Given the description of an element on the screen output the (x, y) to click on. 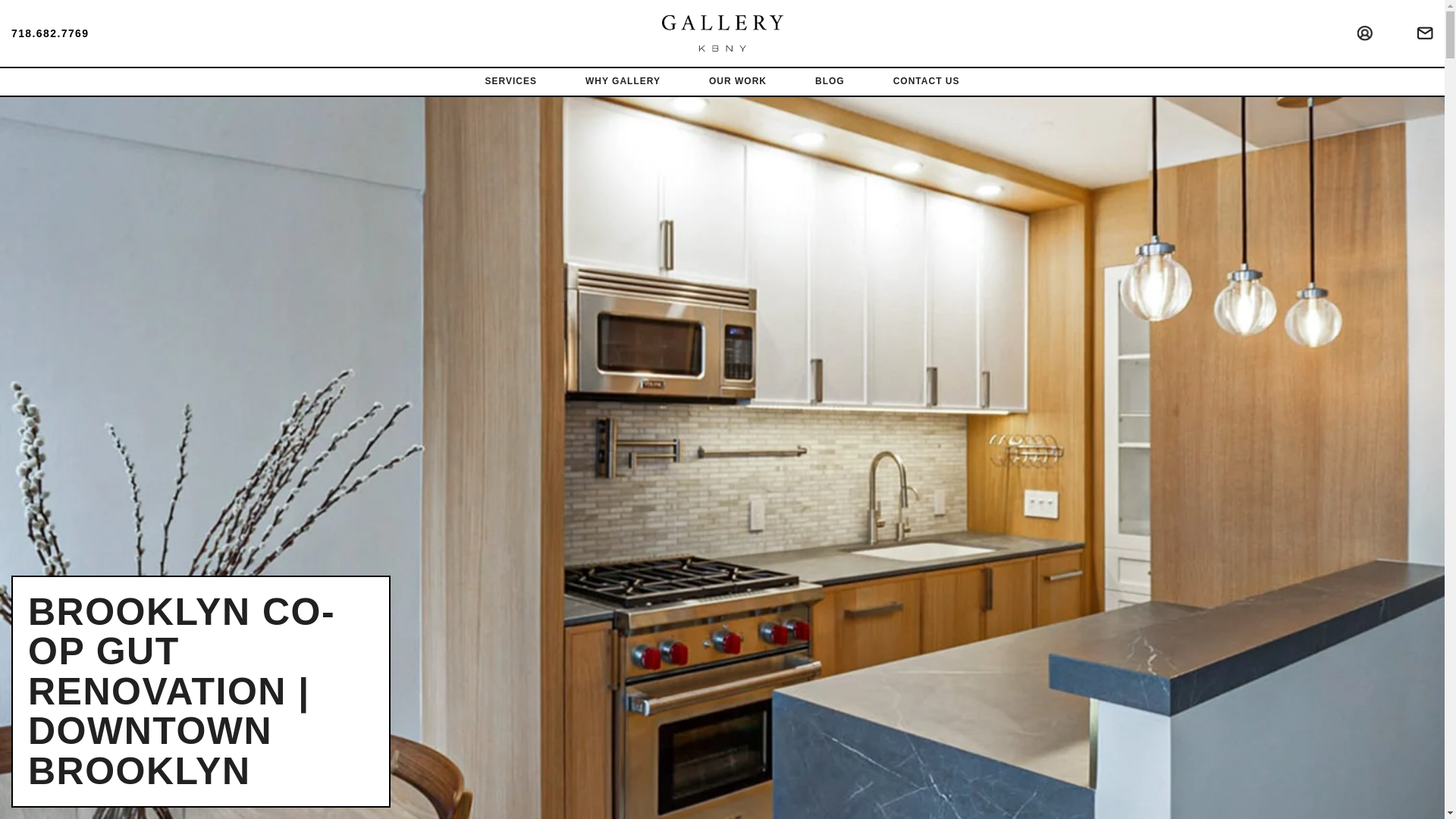
OUR WORK (737, 81)
BLOG (829, 81)
SERVICES (510, 81)
WHY GALLERY (622, 81)
718.682.7769 (49, 33)
